Given the description of an element on the screen output the (x, y) to click on. 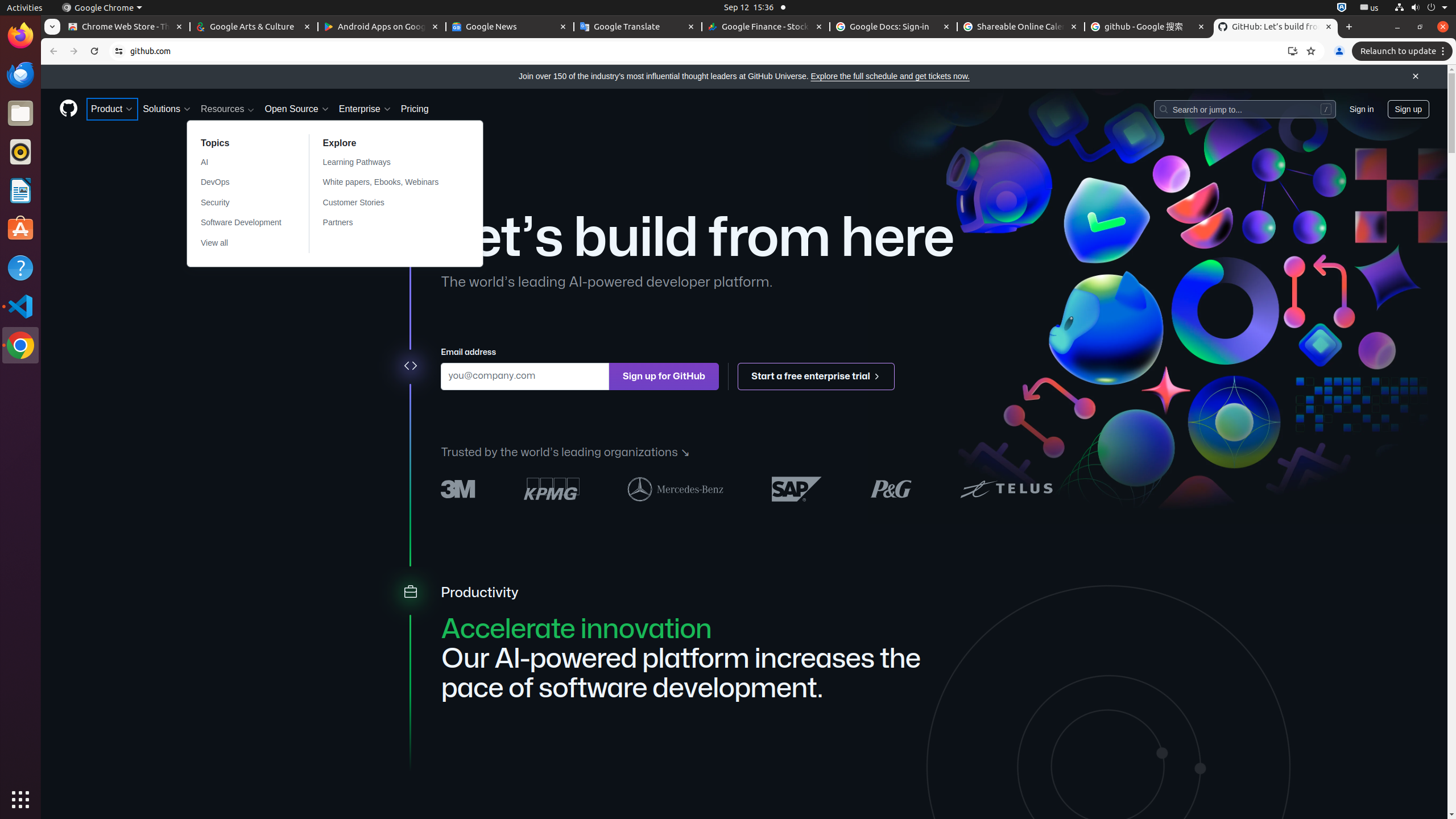
Relaunch to update Element type: push-button (1403, 50)
Files Element type: push-button (20, 113)
DevOps Element type: link (240, 182)
Enterprise Element type: push-button (364, 108)
Ubuntu Software Element type: push-button (20, 229)
